Given the description of an element on the screen output the (x, y) to click on. 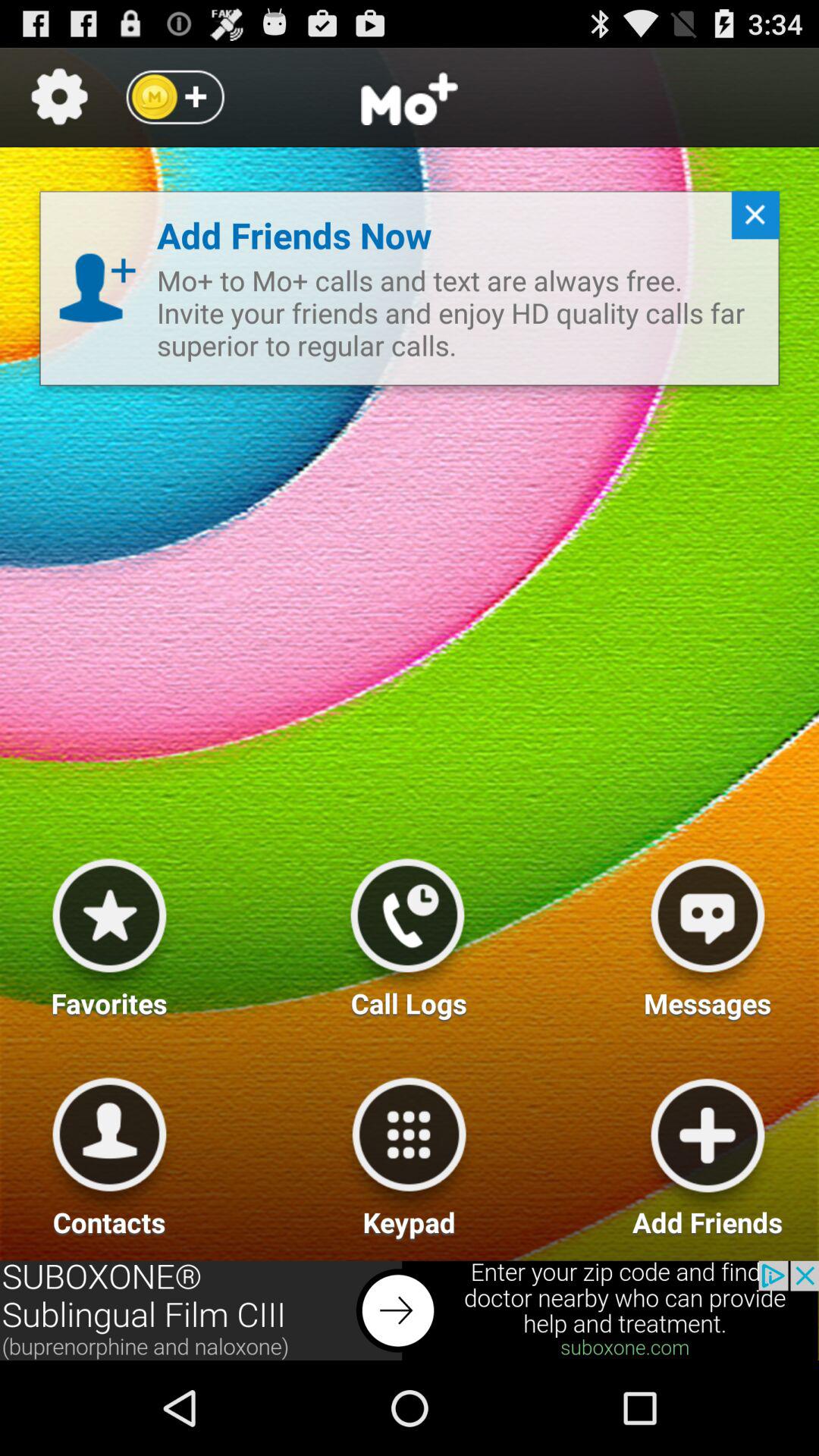
close (749, 222)
